Given the description of an element on the screen output the (x, y) to click on. 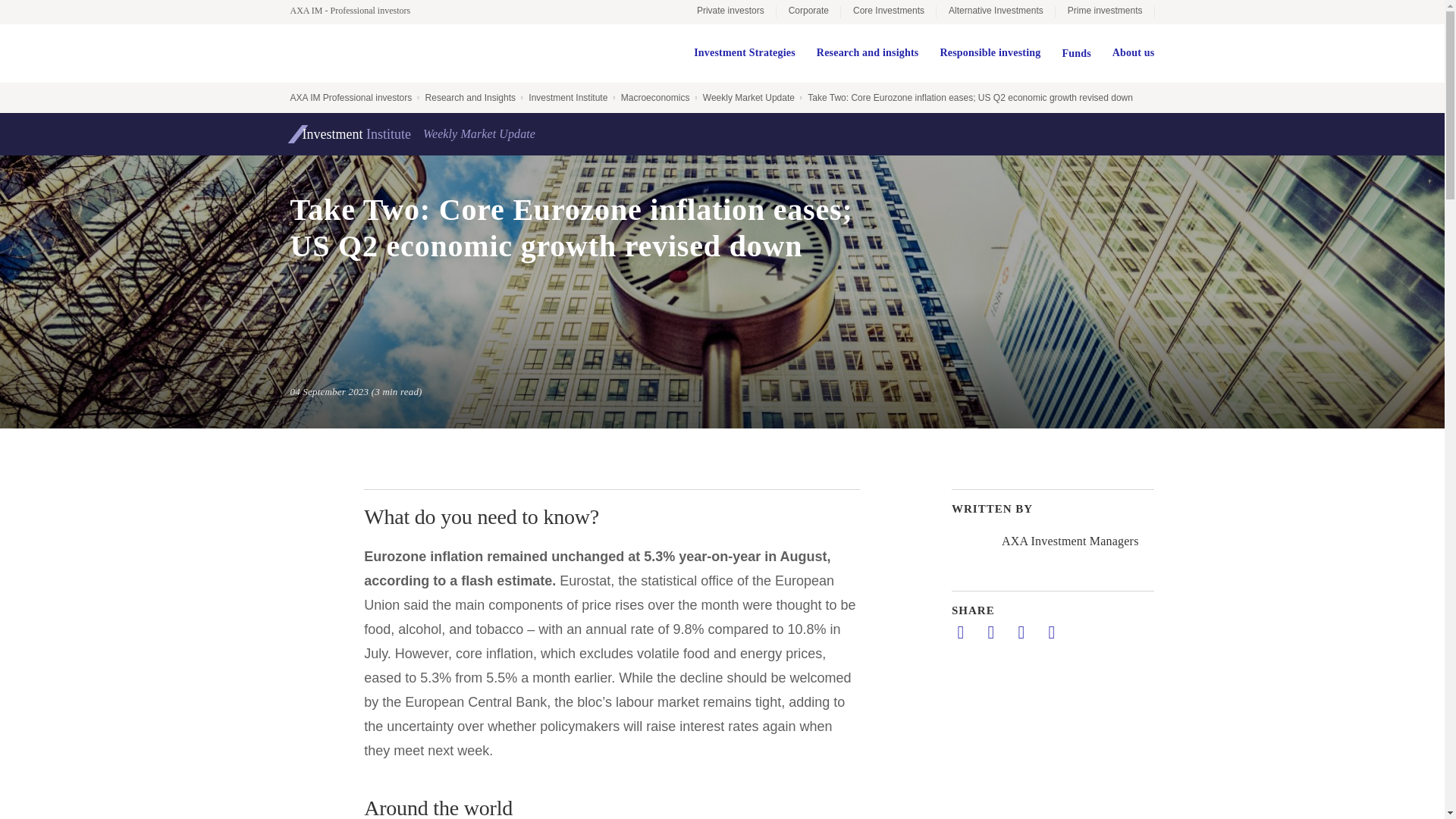
Share on twitter (990, 632)
AXA IM - Professional investors (357, 10)
Core Investments (888, 12)
Private investors (730, 12)
Research and insights (867, 53)
Corporate (808, 12)
Prime investments (1104, 12)
Share on LinkedIn (960, 632)
Investment Strategies (744, 53)
AXA IM - Professional investors, Home (357, 10)
